Given the description of an element on the screen output the (x, y) to click on. 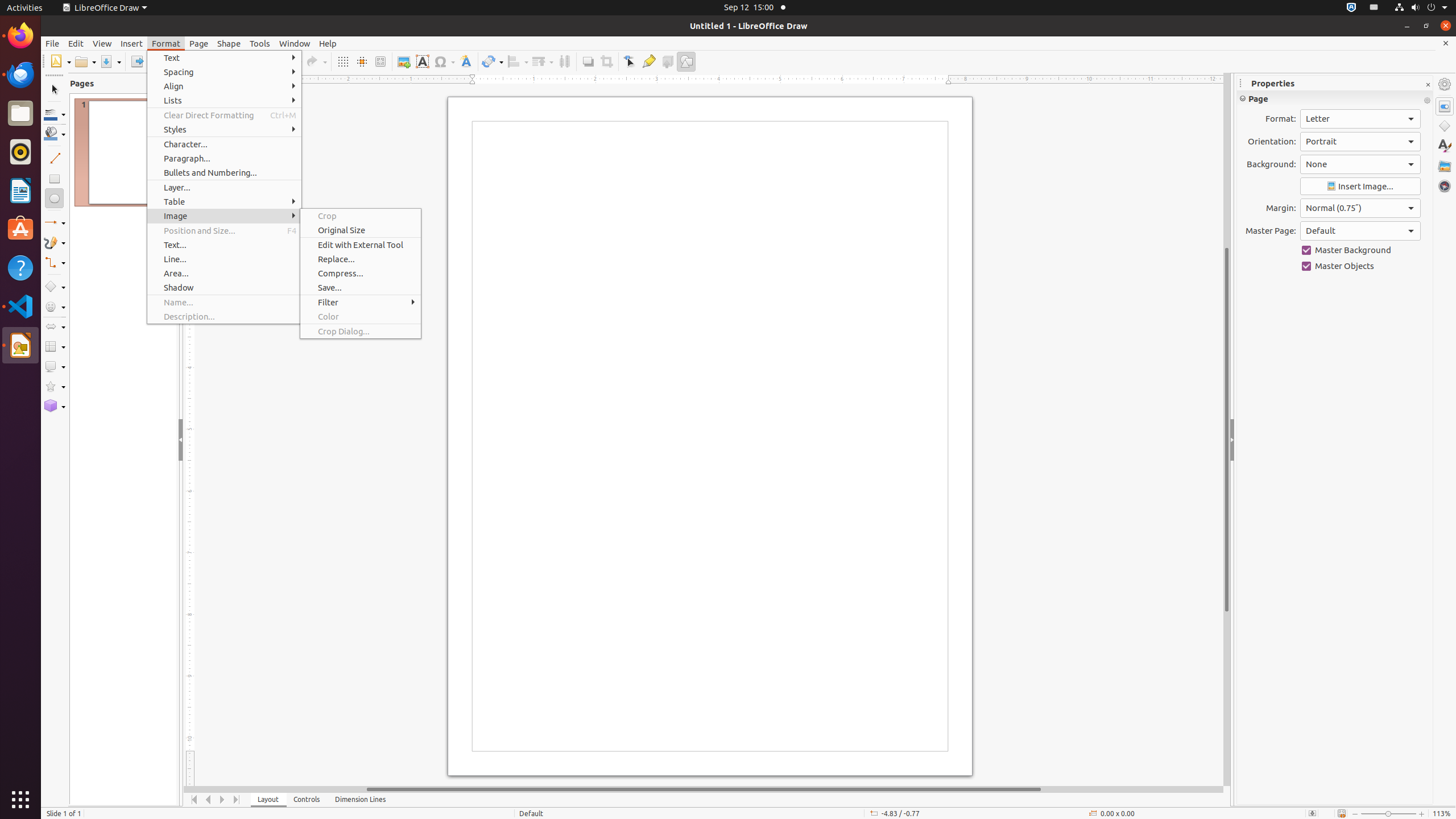
Align Element type: menu (224, 86)
Text Element type: menu (224, 57)
Crop Element type: push-button (606, 61)
